Given the description of an element on the screen output the (x, y) to click on. 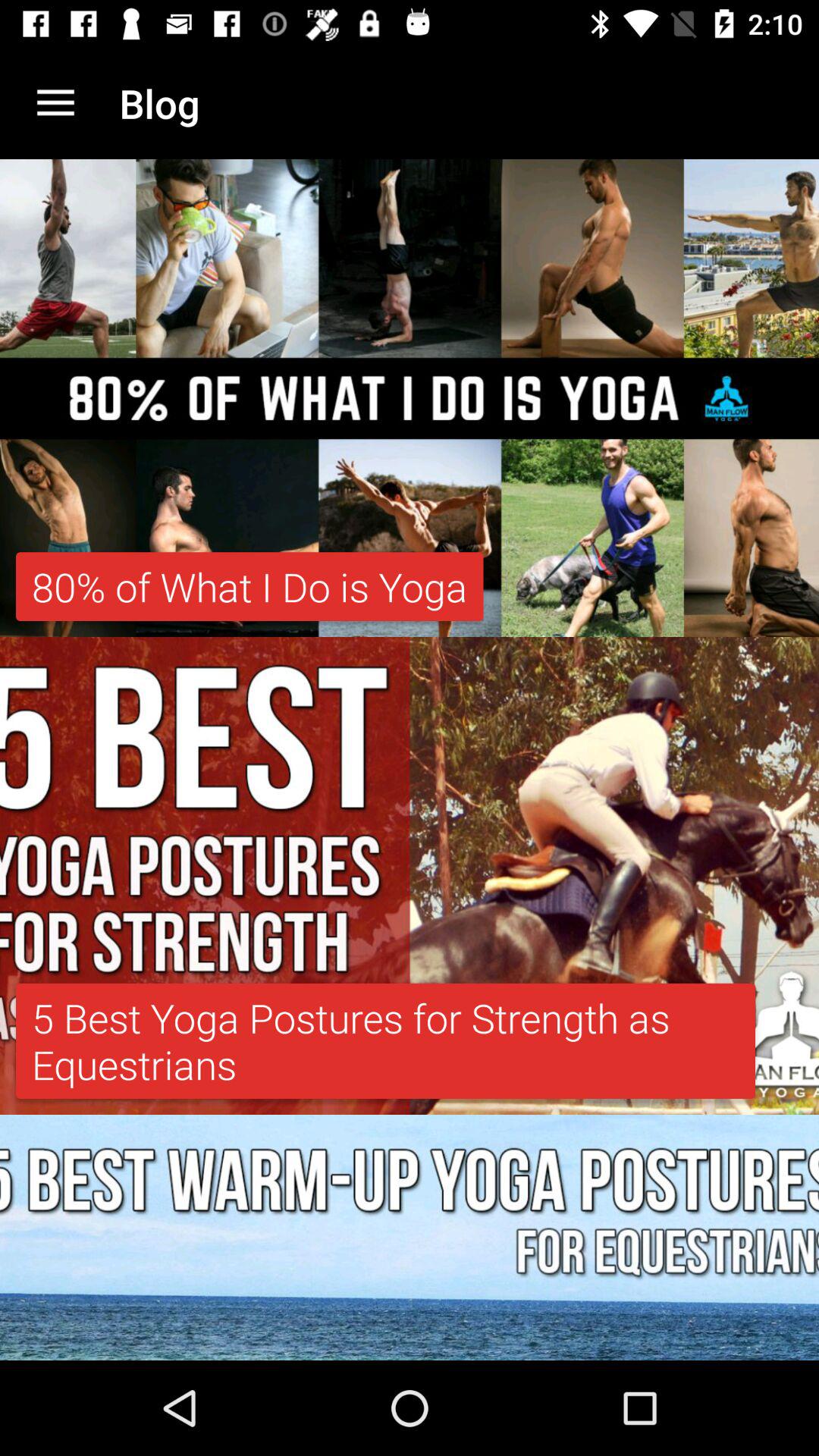
launch icon to the left of blog (55, 103)
